Given the description of an element on the screen output the (x, y) to click on. 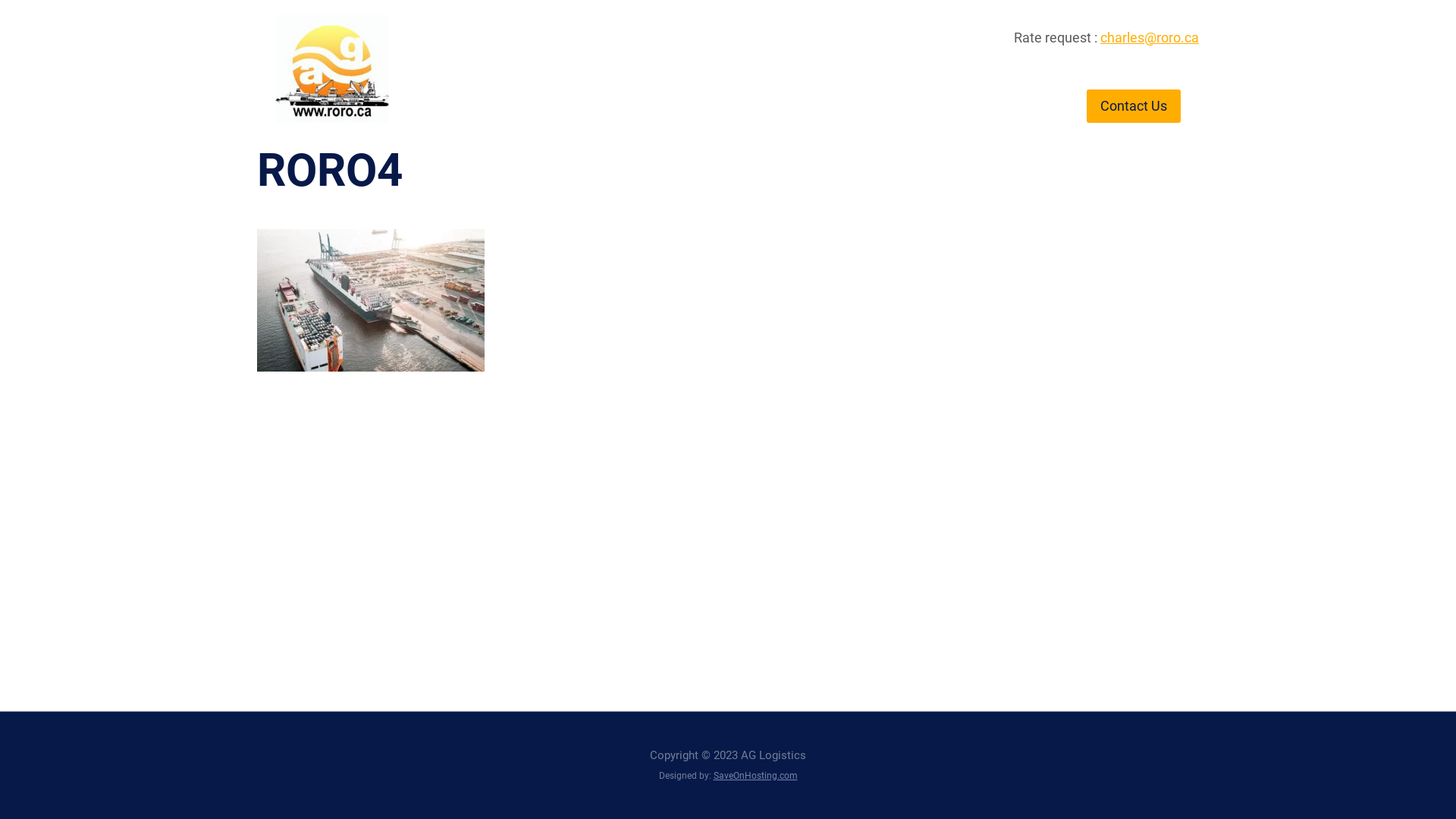
Contact Us Element type: text (1133, 105)
SaveOnHosting.com Element type: text (754, 775)
charles@roro.ca Element type: text (1149, 37)
